Given the description of an element on the screen output the (x, y) to click on. 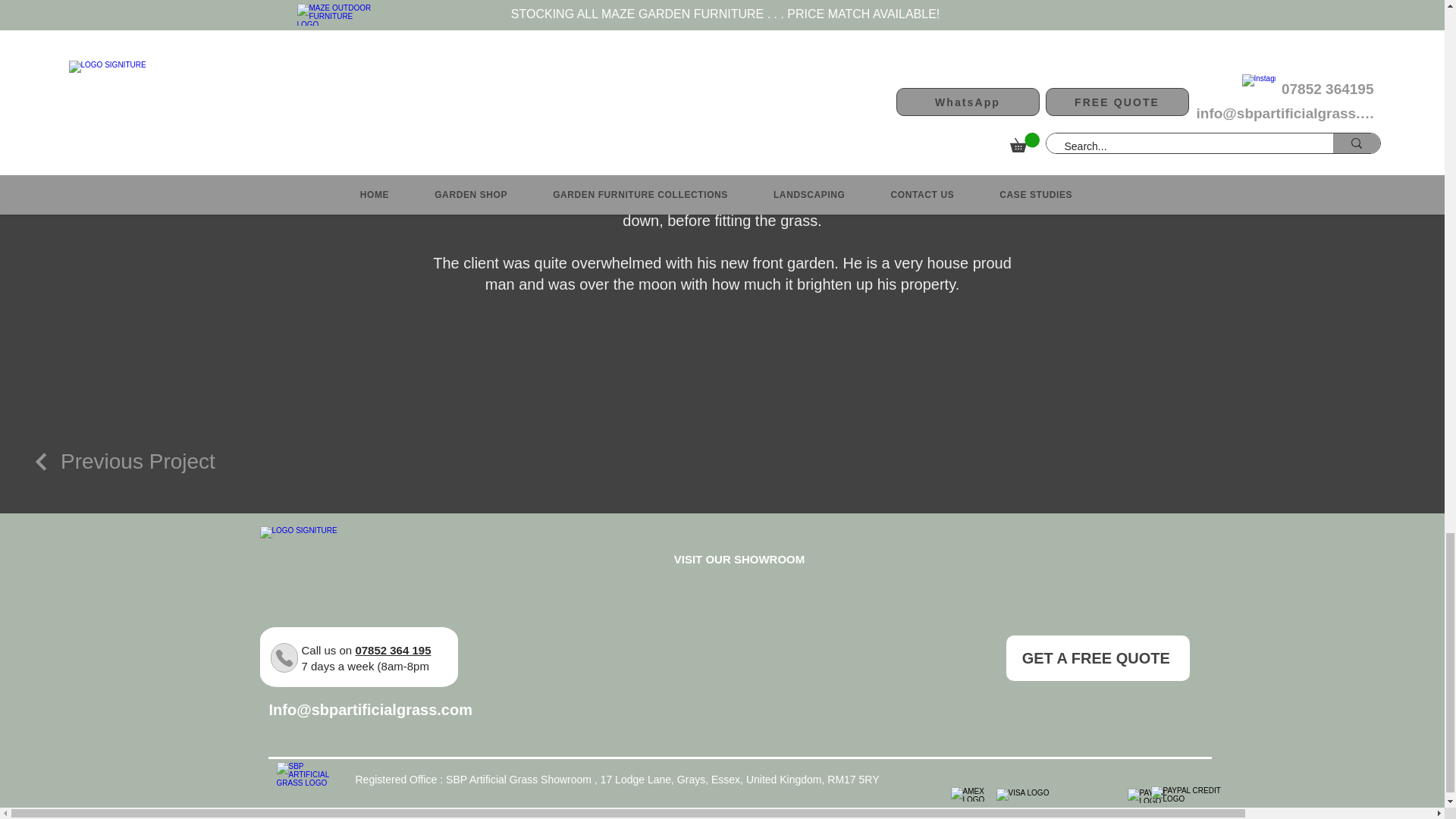
Previous Project (122, 461)
VISIT OUR SHOWROOM (738, 559)
07852 364 195 (392, 649)
